Given the description of an element on the screen output the (x, y) to click on. 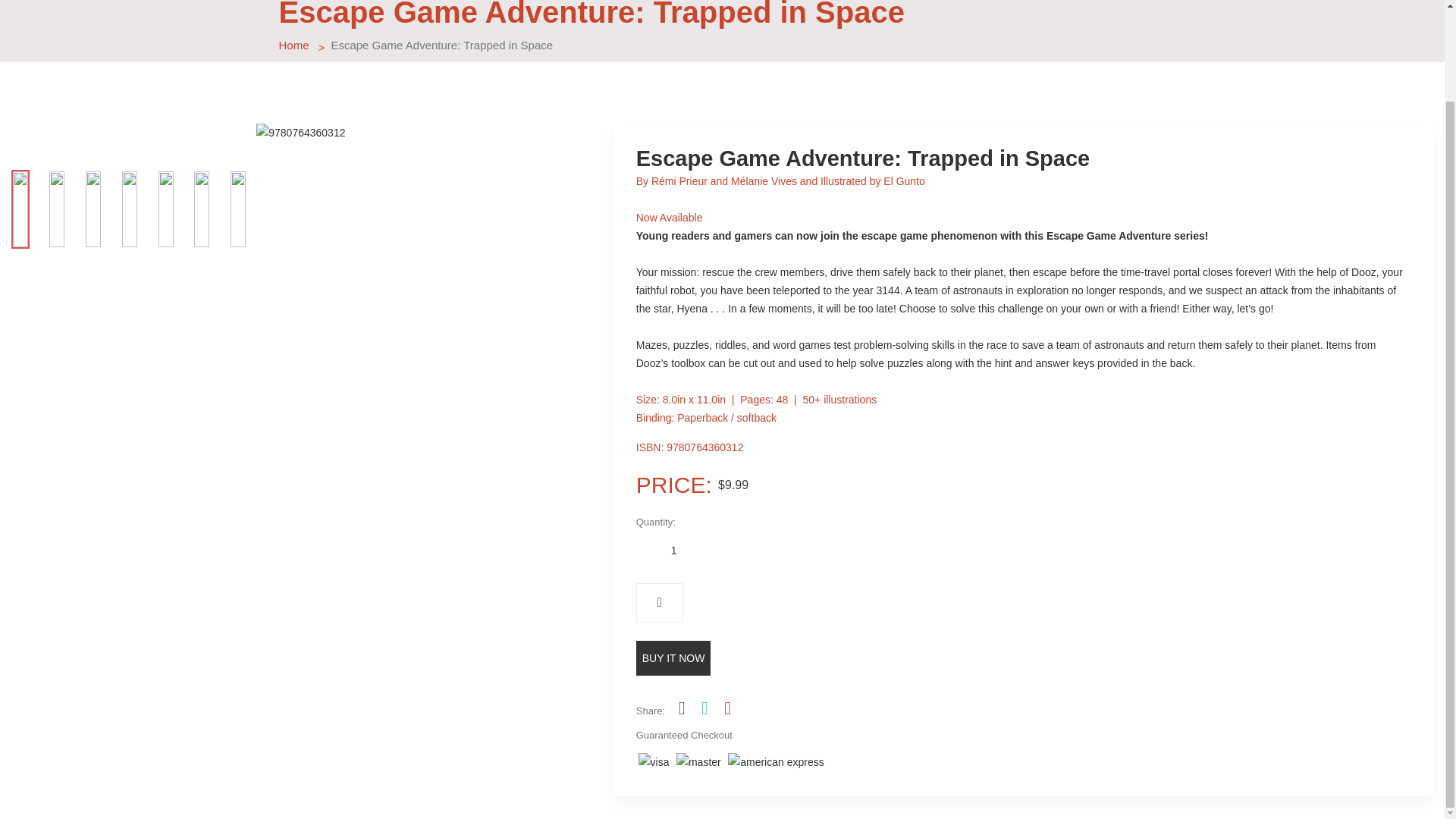
1 (673, 550)
Back to the home page (293, 44)
Follow us on Pinterest (726, 708)
Follow us on Facebook (681, 708)
Follow us on Twitter (704, 708)
